Given the description of an element on the screen output the (x, y) to click on. 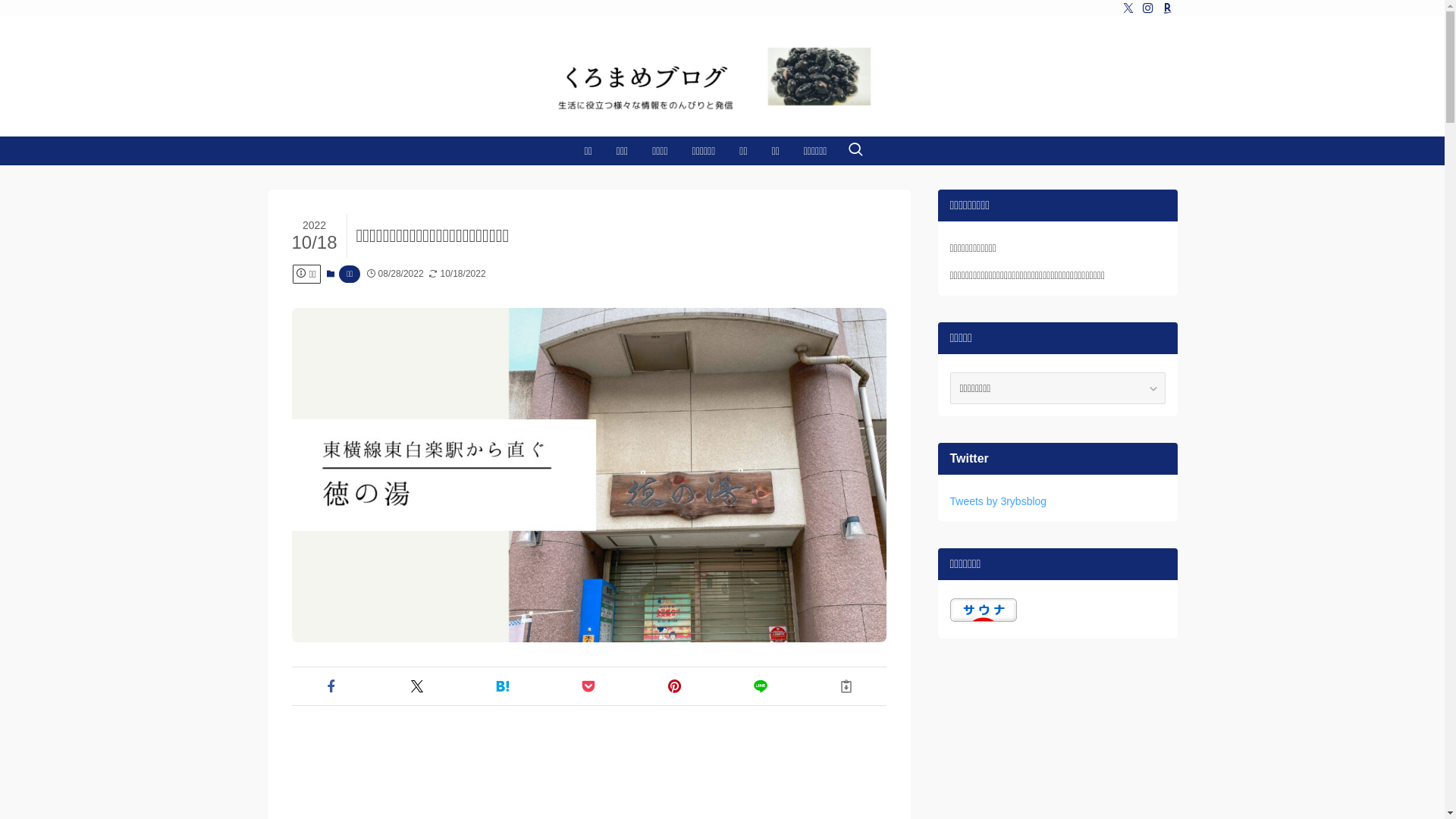
search Element type: text (921, 421)
Tweets by 3rybsblog Element type: text (997, 501)
